Given the description of an element on the screen output the (x, y) to click on. 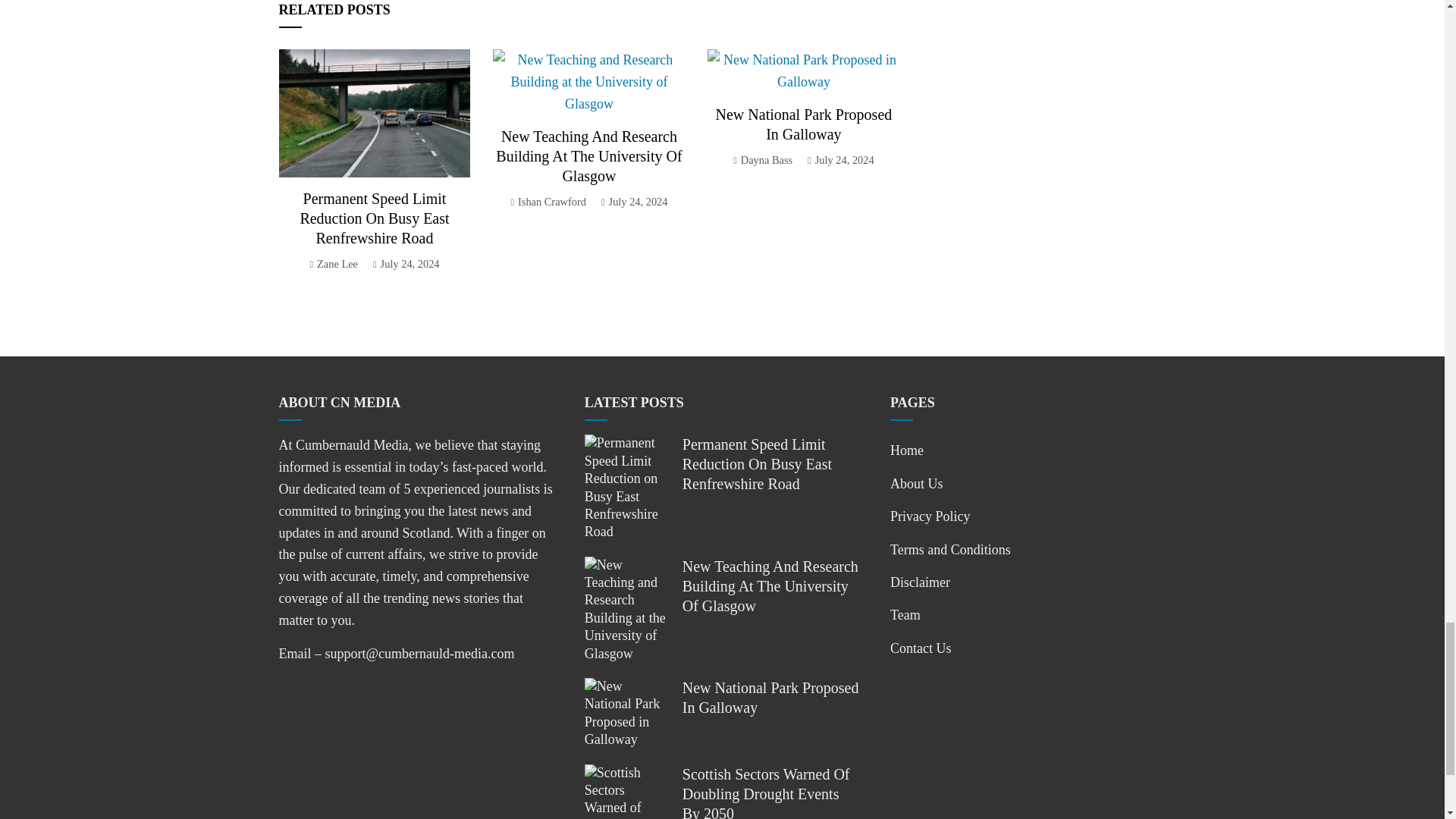
New National Park Proposed in Galloway (804, 124)
